Given the description of an element on the screen output the (x, y) to click on. 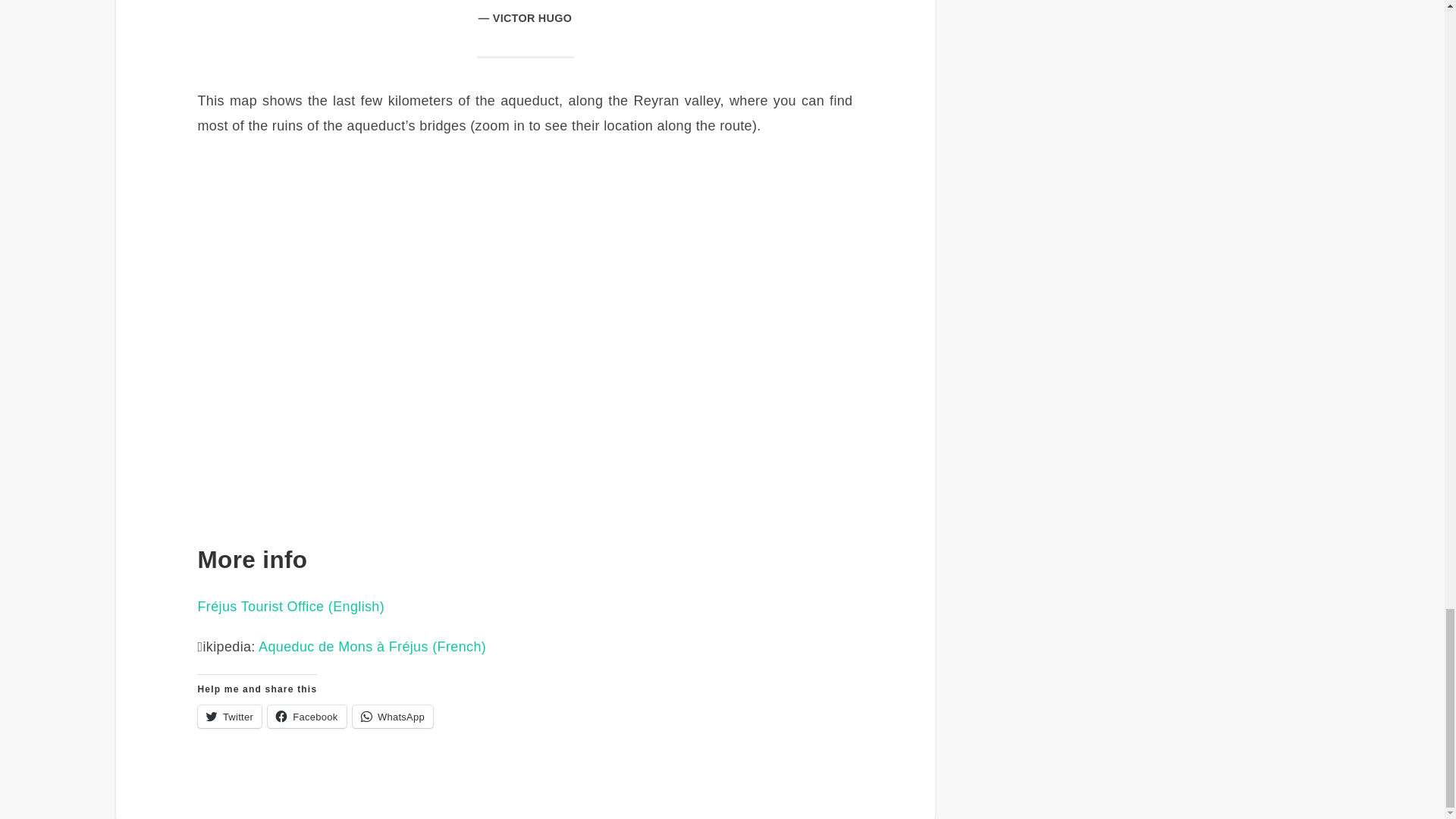
Click to share on WhatsApp (392, 716)
Twitter (228, 716)
Facebook (306, 716)
Click to share on Facebook (306, 716)
WhatsApp (392, 716)
Click to share on Twitter (228, 716)
